Given the description of an element on the screen output the (x, y) to click on. 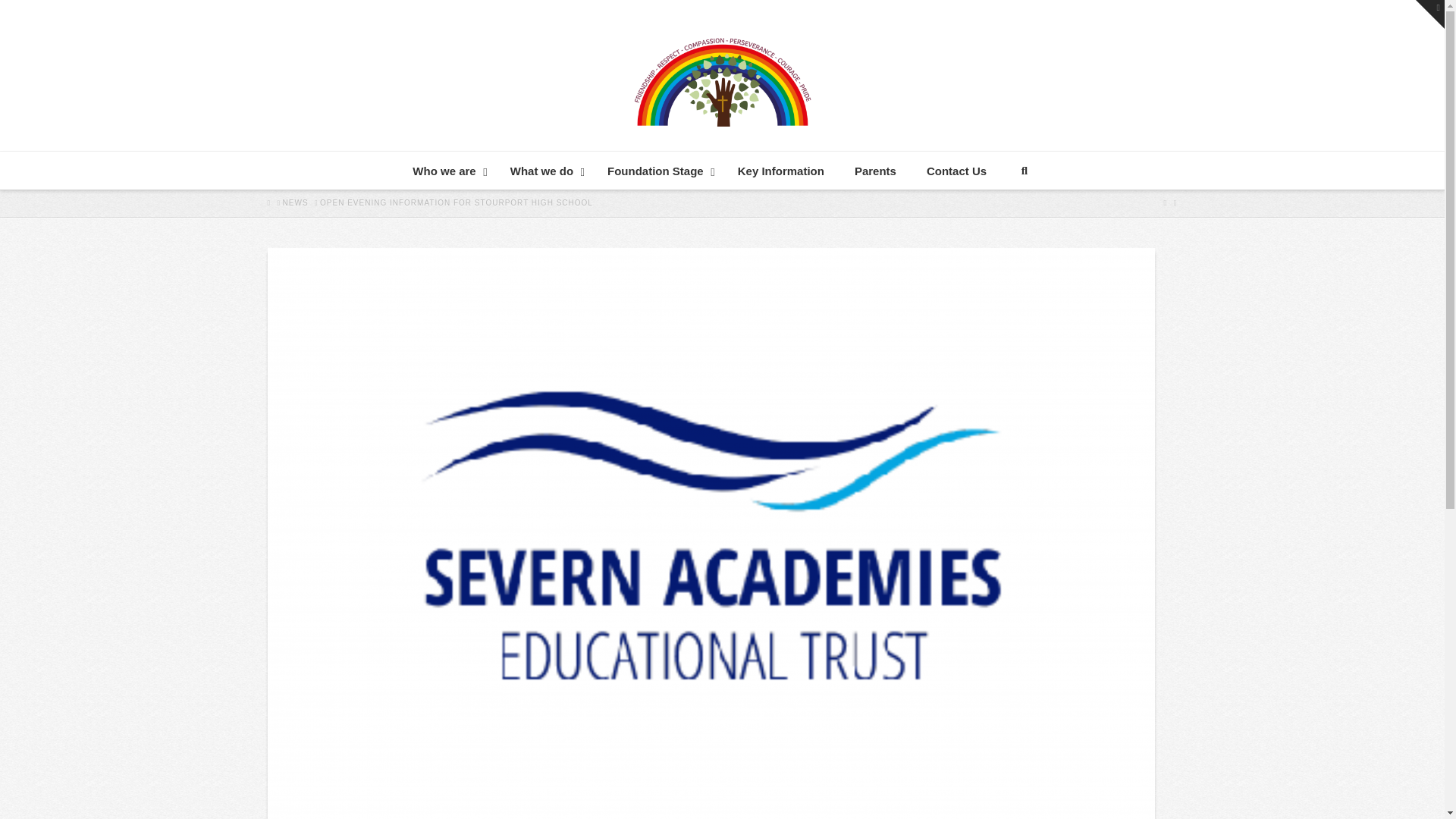
You Are Here (456, 203)
Who we are (446, 171)
What we do (543, 171)
